Given the description of an element on the screen output the (x, y) to click on. 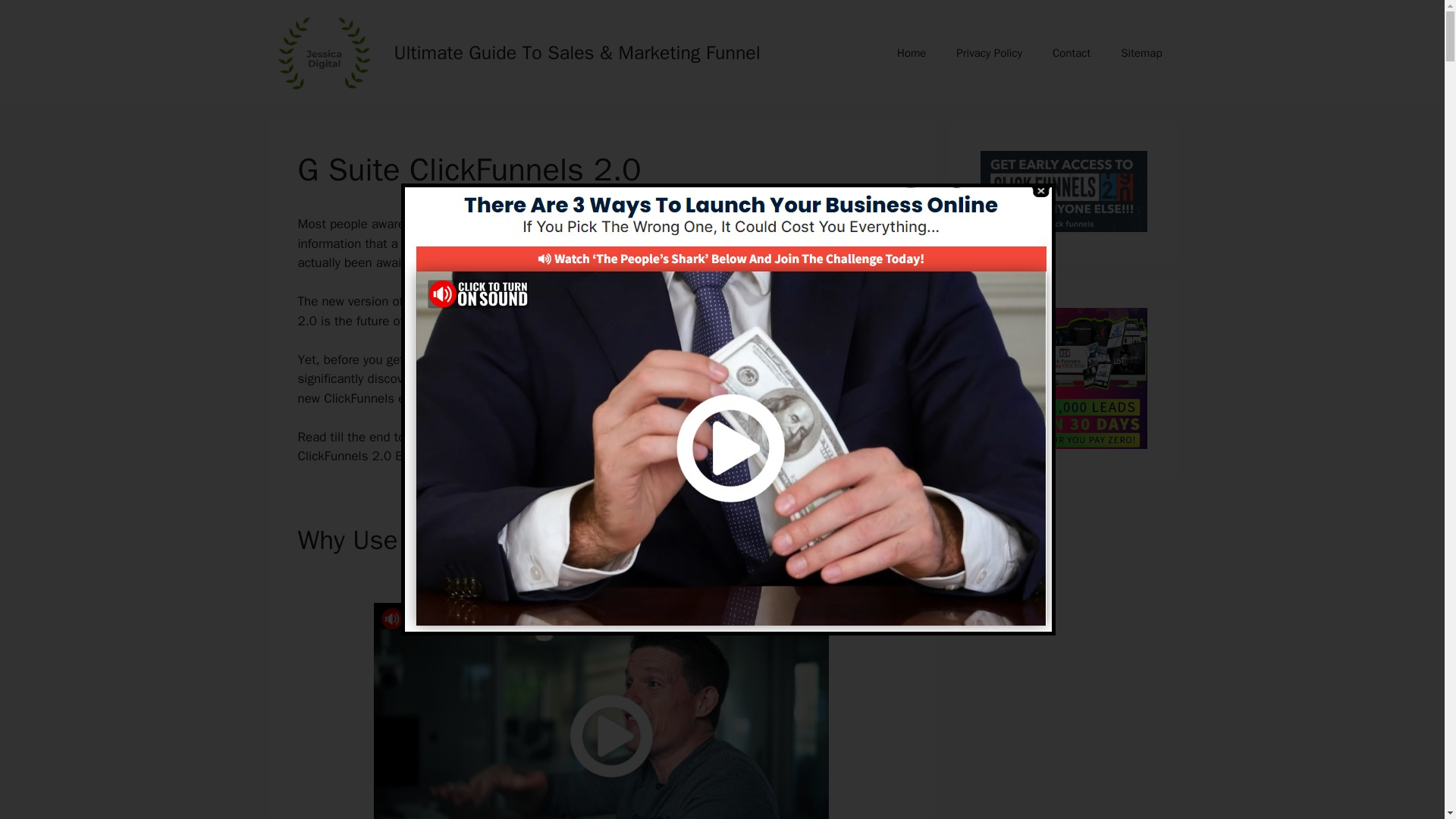
Contact (1070, 53)
Privacy Policy (988, 53)
Sitemap (1140, 53)
Home (911, 53)
